Given the description of an element on the screen output the (x, y) to click on. 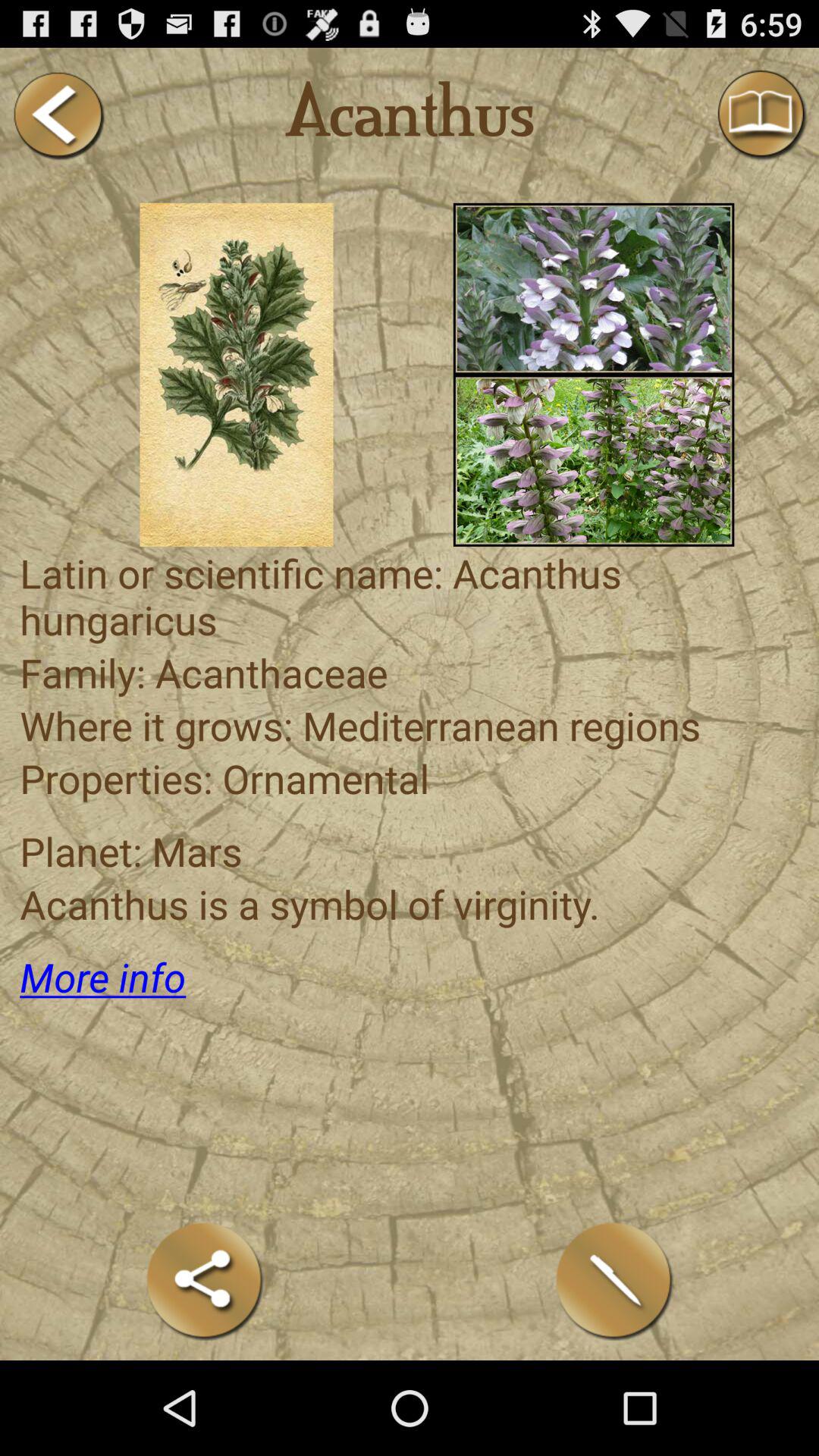
more than 70 plants cataloged in alphabetical order you can see for your rituals (593, 460)
